Given the description of an element on the screen output the (x, y) to click on. 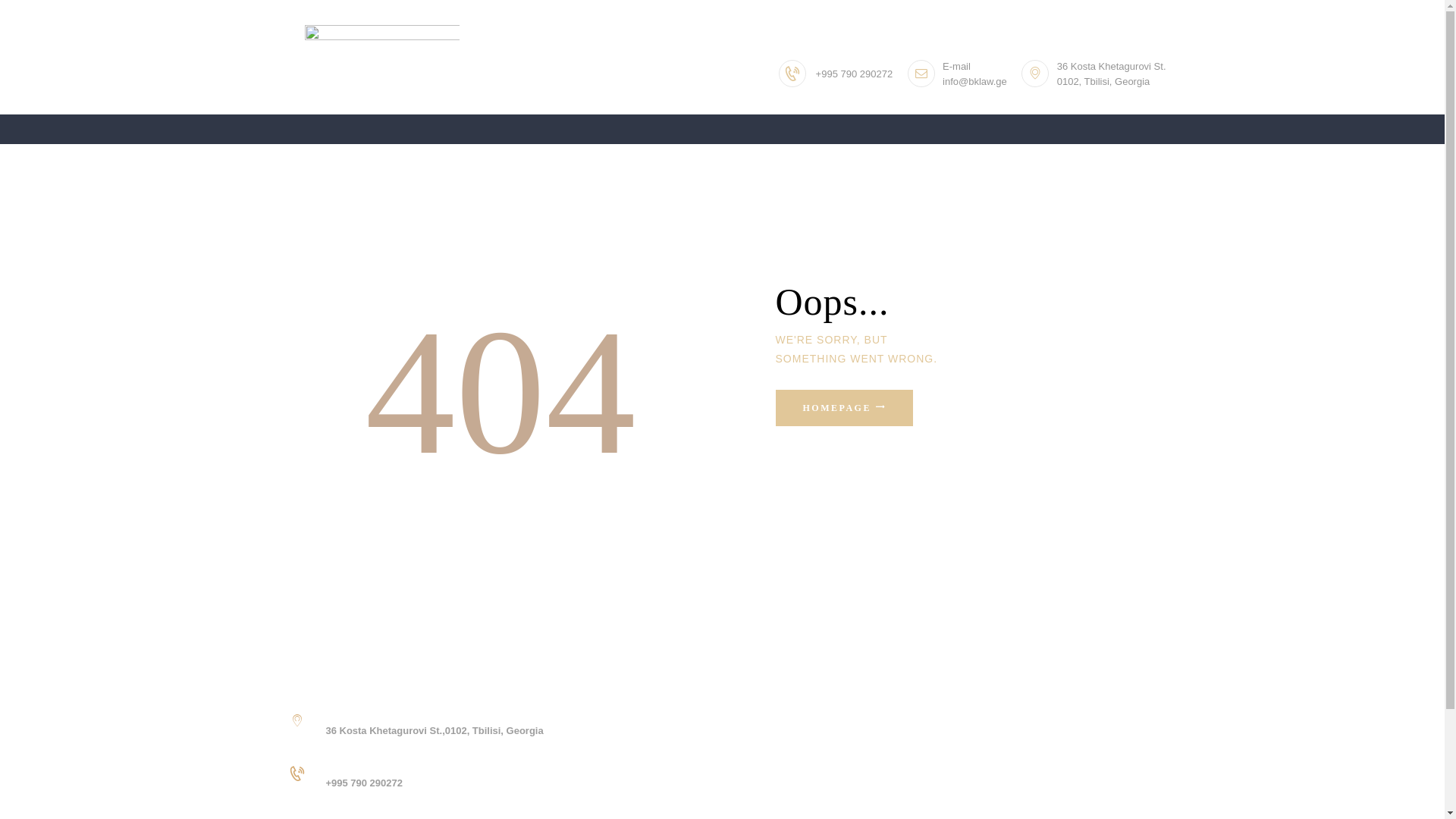
HOMEPAGE (843, 407)
